Given the description of an element on the screen output the (x, y) to click on. 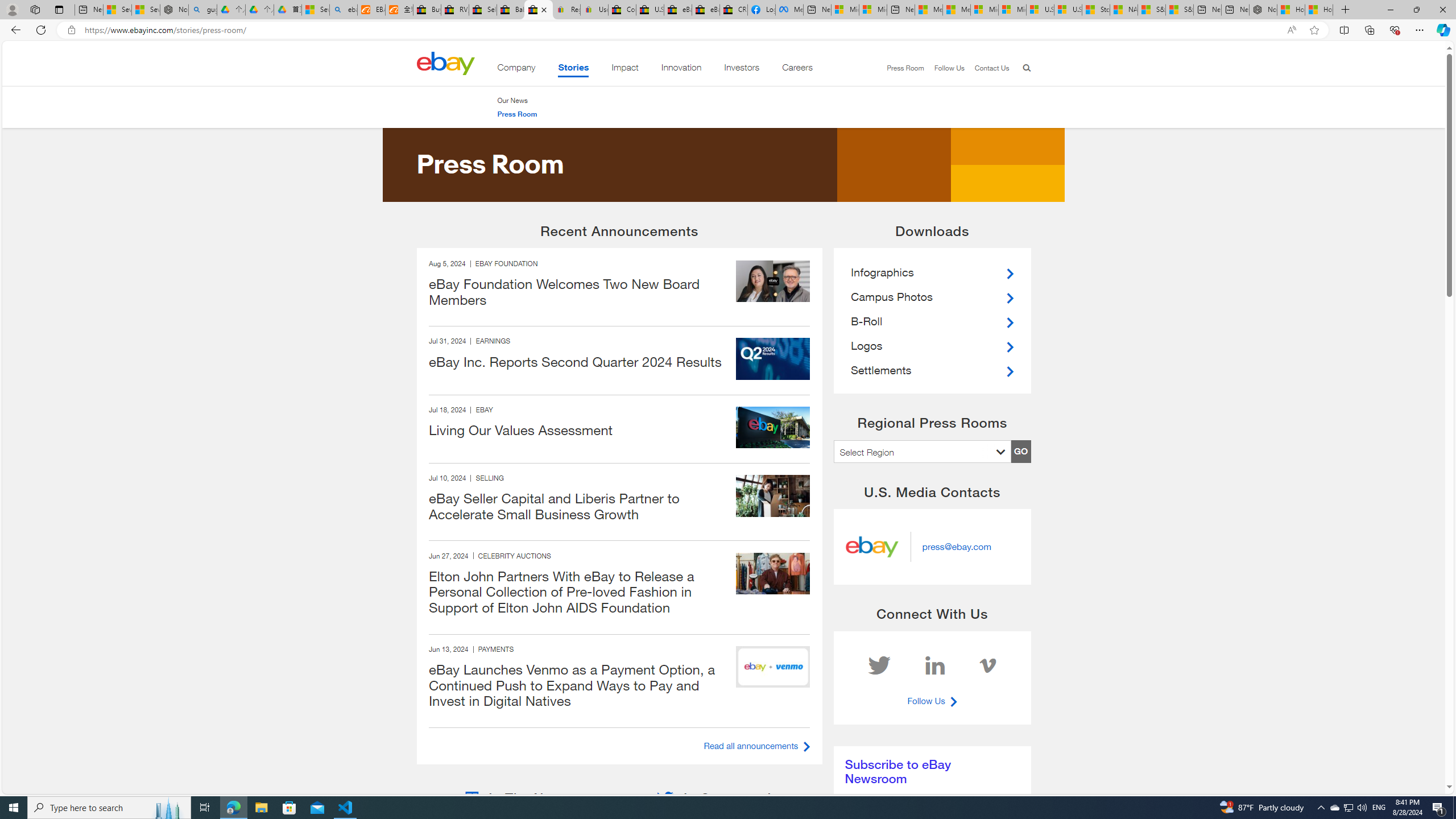
Company (515, 69)
ebay - Search (343, 9)
View site information (70, 29)
Read aloud this page (Ctrl+Shift+U) (1291, 29)
Impact (625, 69)
Stories . This is the current section. (573, 69)
S&P 500, Nasdaq end lower, weighed by Nvidia dip | Watch (1179, 9)
eBay Inc. Reports Third Quarter 2023 Results (706, 9)
Sell worldwide with eBay (483, 9)
Follow Us (943, 68)
Innovation (681, 69)
Careers (796, 69)
